Given the description of an element on the screen output the (x, y) to click on. 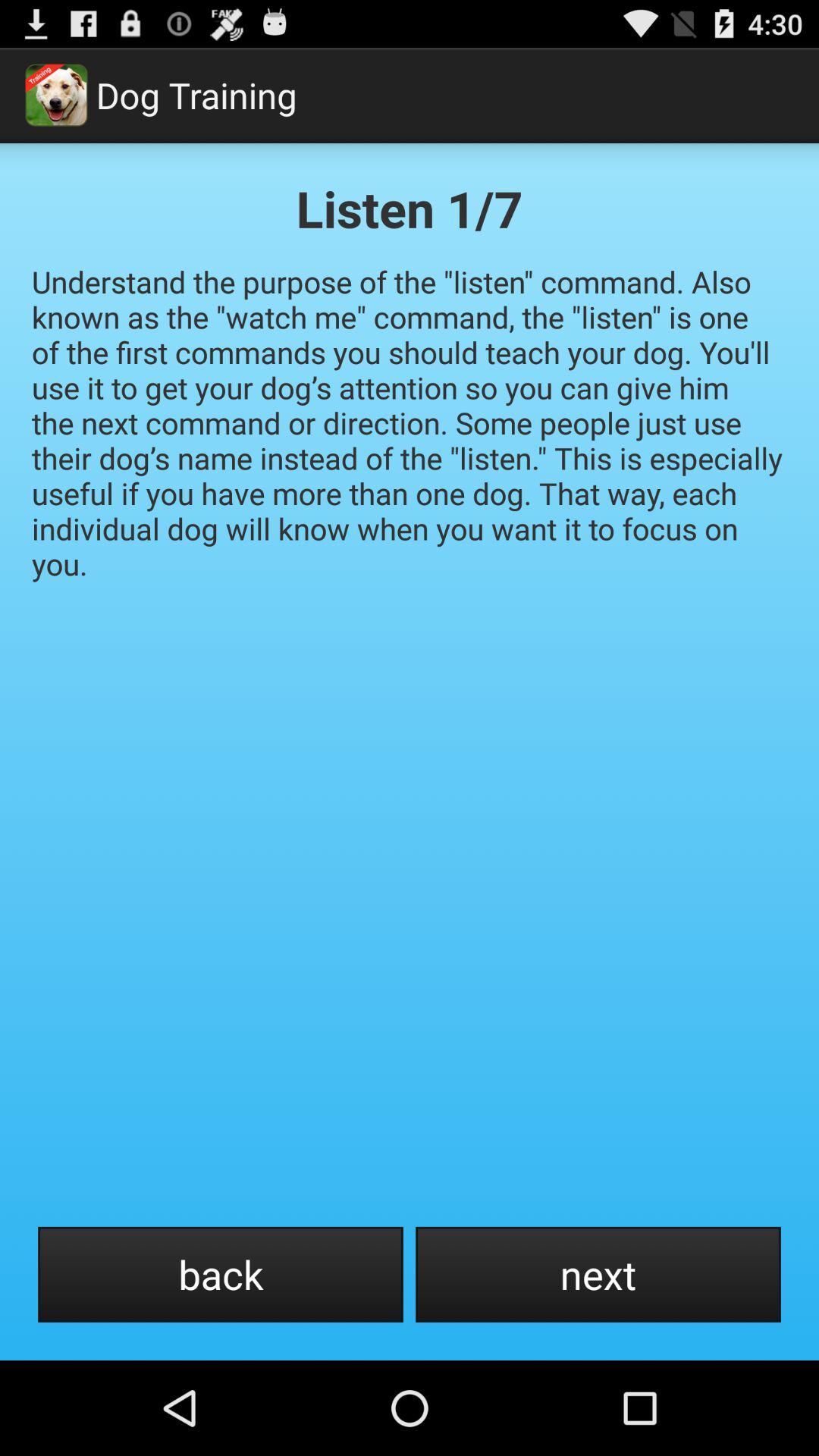
tap item to the left of next button (220, 1274)
